Given the description of an element on the screen output the (x, y) to click on. 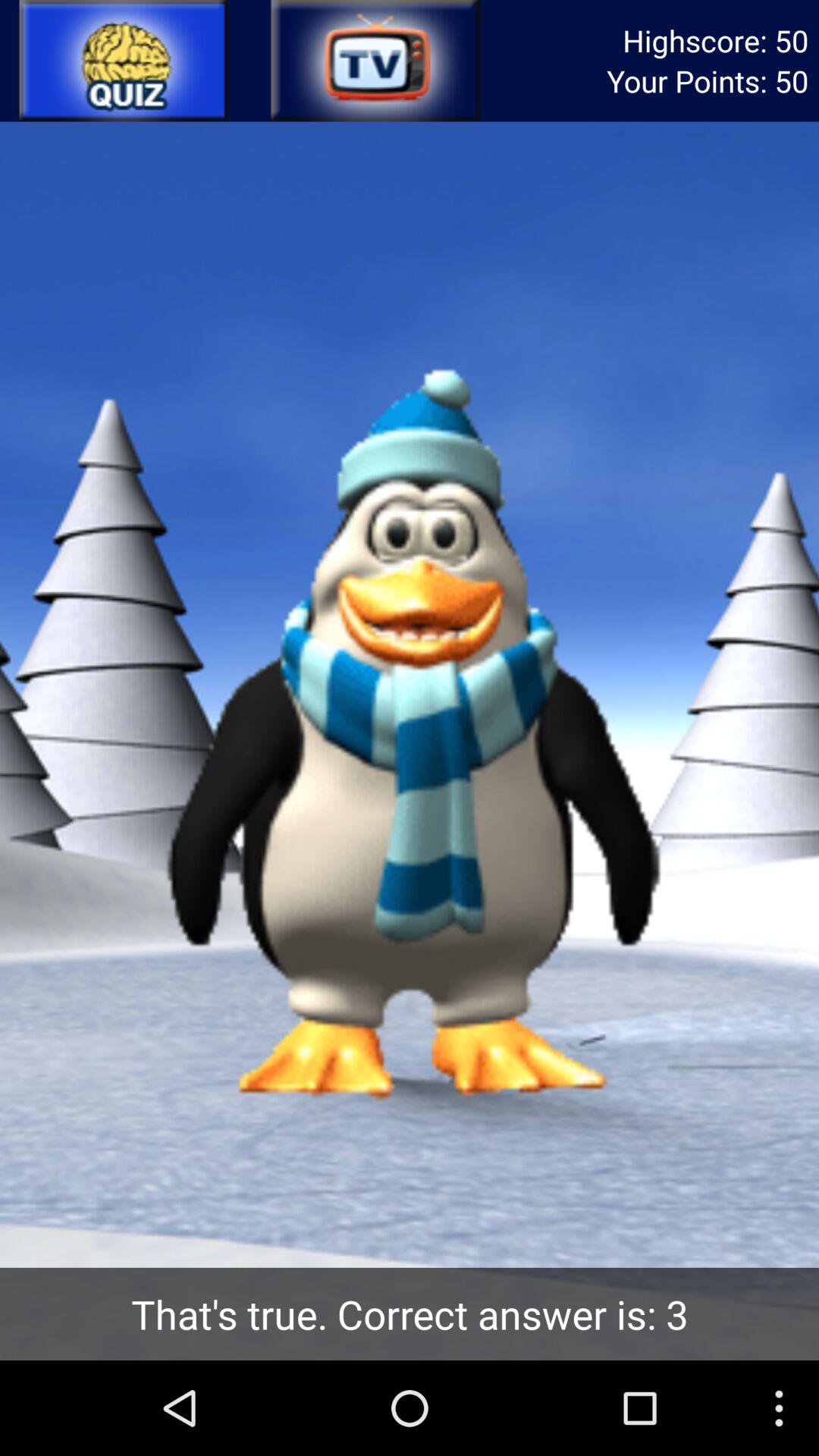
tv option (373, 60)
